Given the description of an element on the screen output the (x, y) to click on. 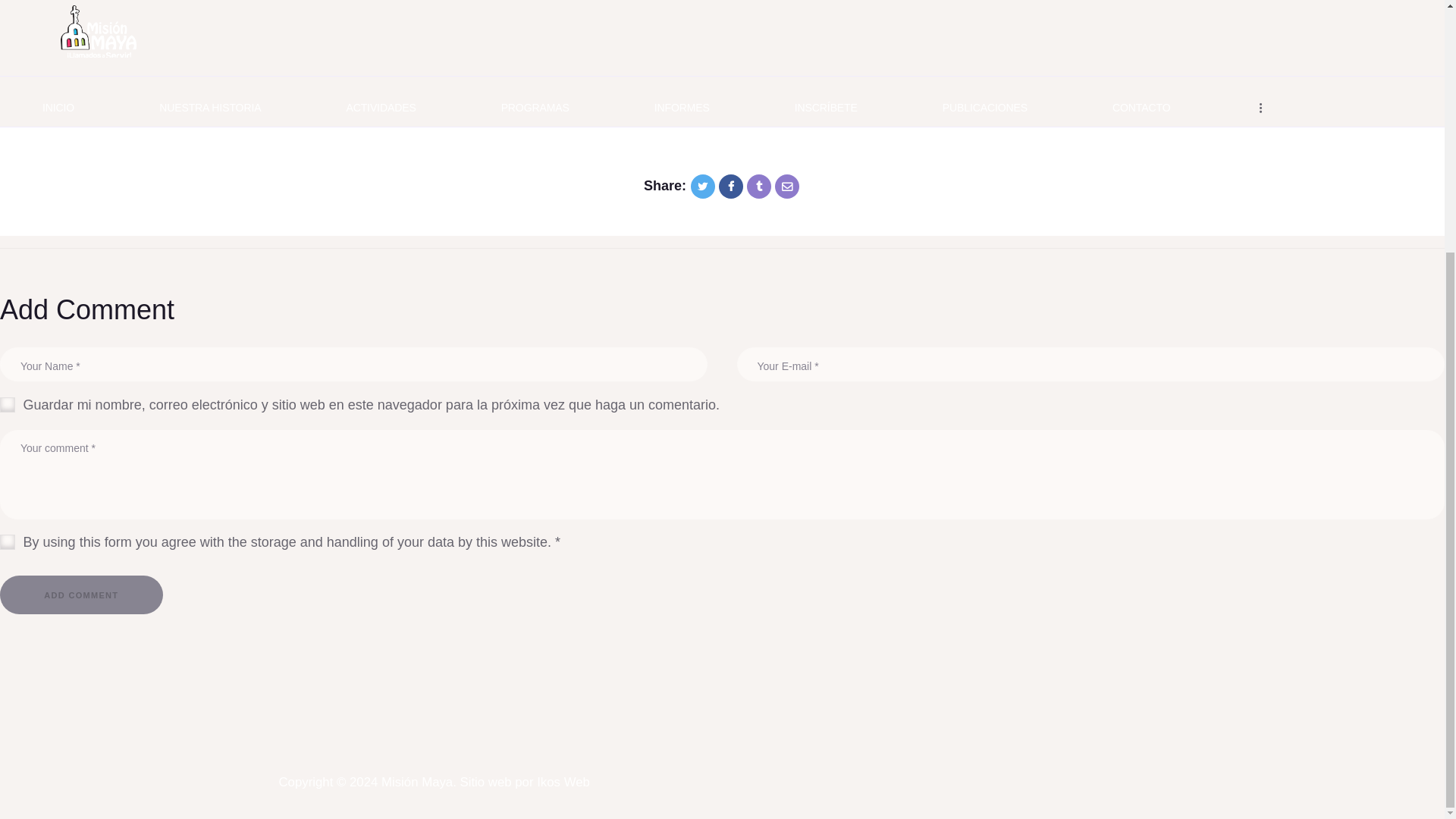
You need to accept this checkbox (557, 541)
Add Comment (81, 594)
